Given the description of an element on the screen output the (x, y) to click on. 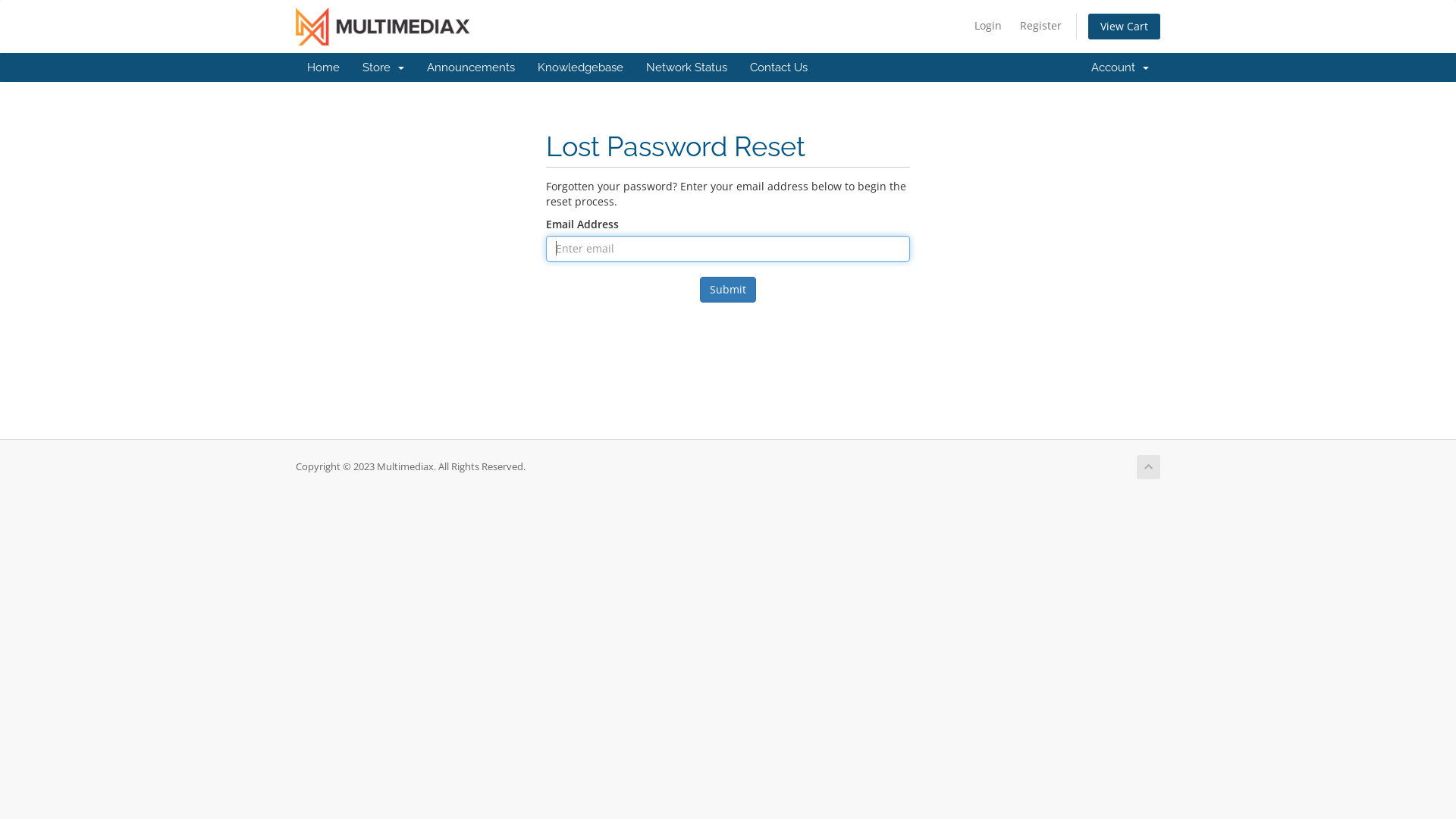
Register Element type: text (1040, 25)
Account   Element type: text (1119, 67)
Home Element type: text (323, 67)
View Cart Element type: text (1124, 26)
Network Status Element type: text (686, 67)
Knowledgebase Element type: text (580, 67)
Login Element type: text (987, 25)
Store   Element type: text (383, 67)
Announcements Element type: text (470, 67)
Contact Us Element type: text (778, 67)
Submit Element type: text (727, 289)
